Given the description of an element on the screen output the (x, y) to click on. 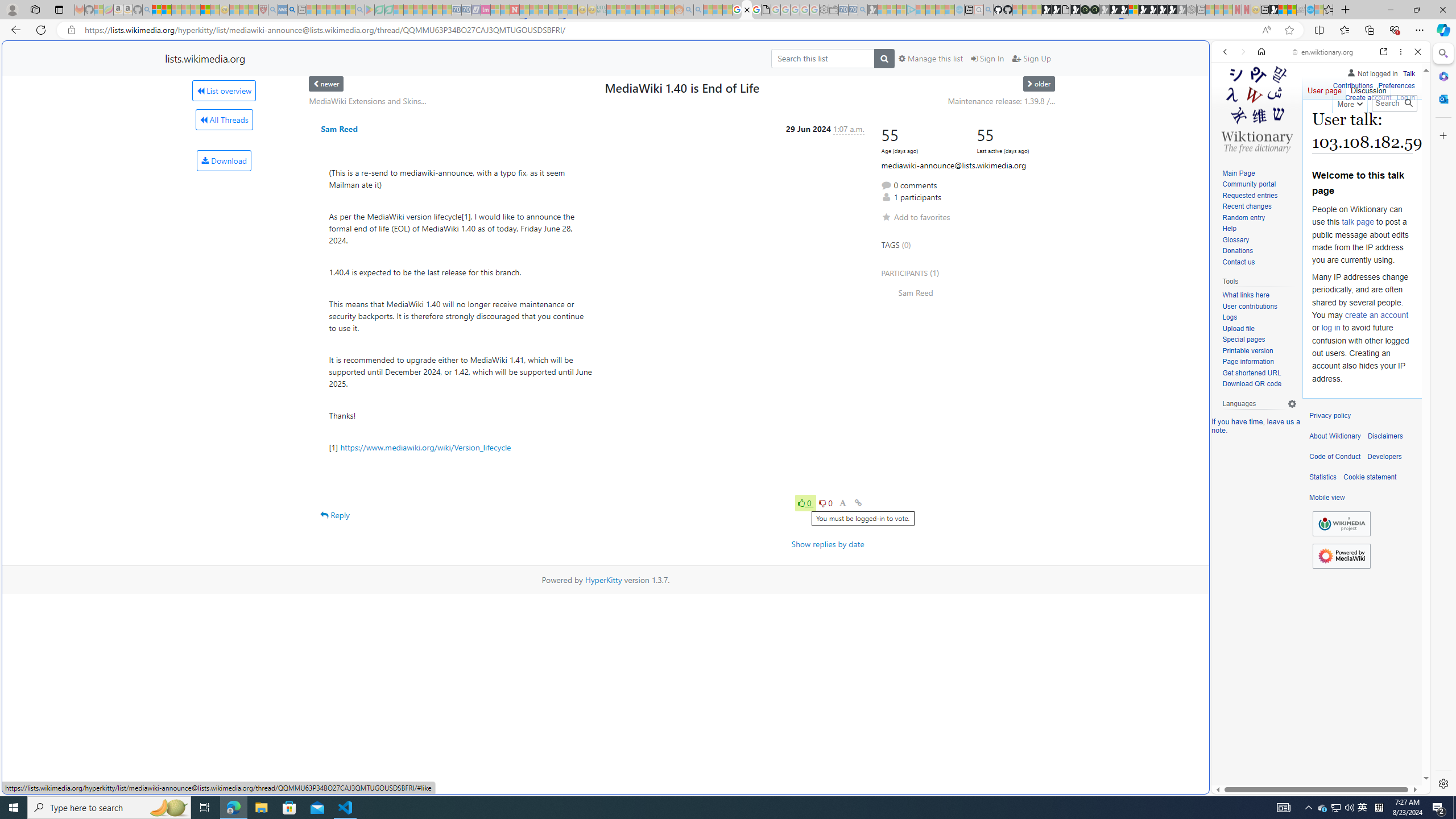
Random entry (1259, 218)
More (1349, 101)
Show replies by date (827, 543)
Page information (1247, 361)
utah sues federal government - Search (291, 9)
Future Focus Report 2024 (1094, 9)
